Given the description of an element on the screen output the (x, y) to click on. 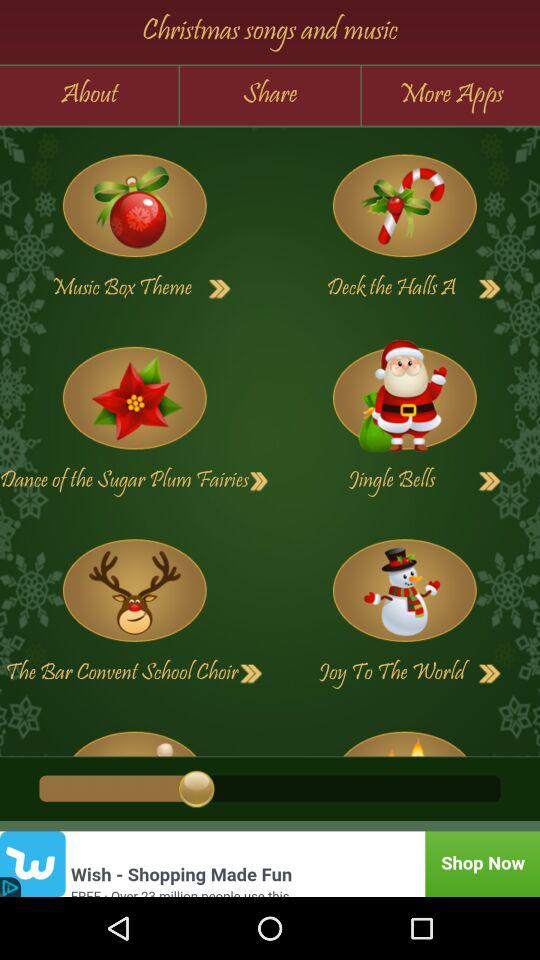
play song (220, 289)
